Given the description of an element on the screen output the (x, y) to click on. 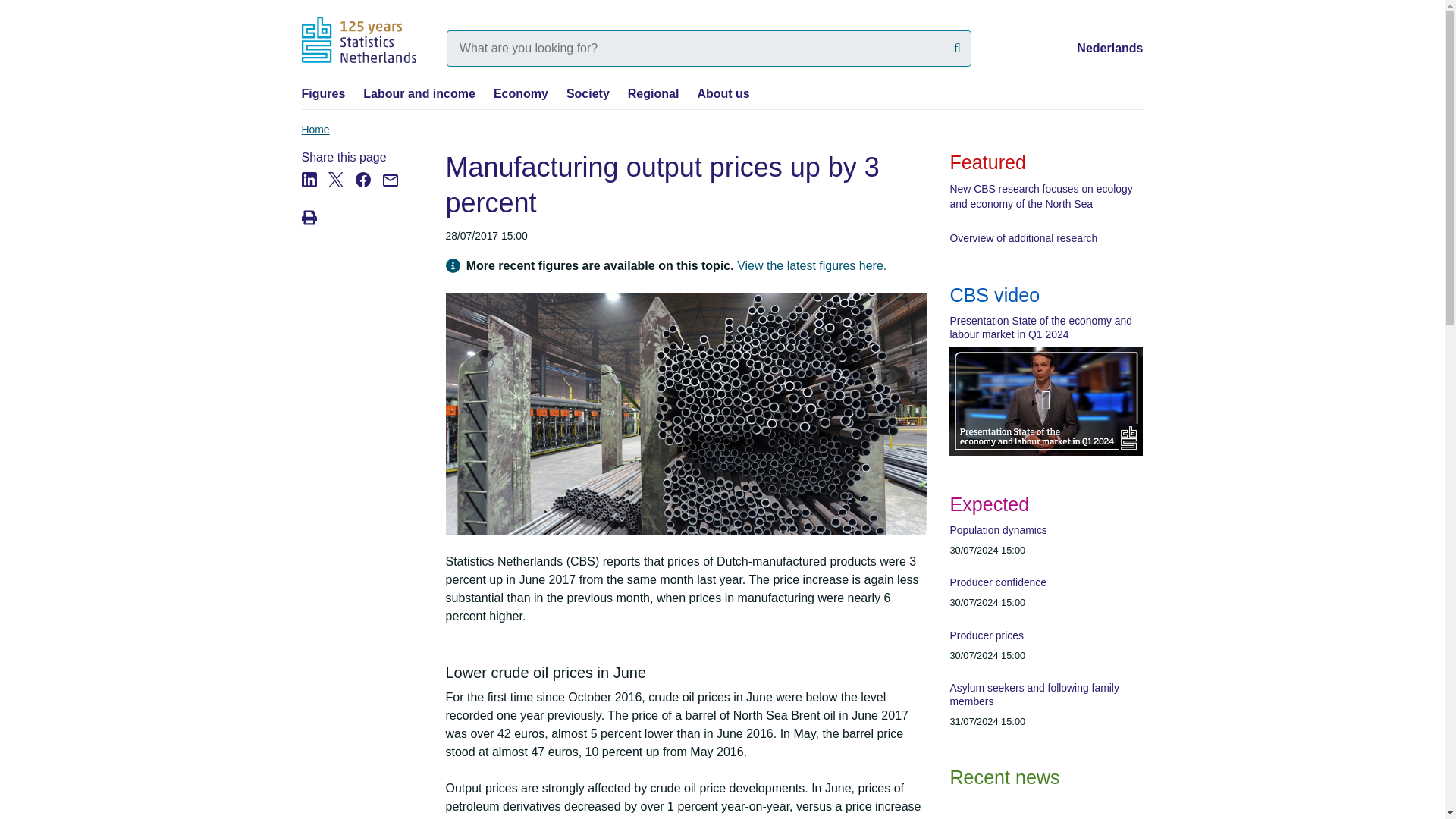
Publication calendar (1045, 625)
Share this page on X (342, 200)
Mail this page (394, 200)
Figures (323, 92)
Nederlands (1109, 47)
Economy (520, 92)
Regional (653, 92)
Home (315, 130)
Society (588, 92)
About us (723, 92)
Share this page on Facebook (368, 200)
Labour and income (419, 92)
CBS home (358, 39)
Share this page on LinkedIn (315, 200)
